Given the description of an element on the screen output the (x, y) to click on. 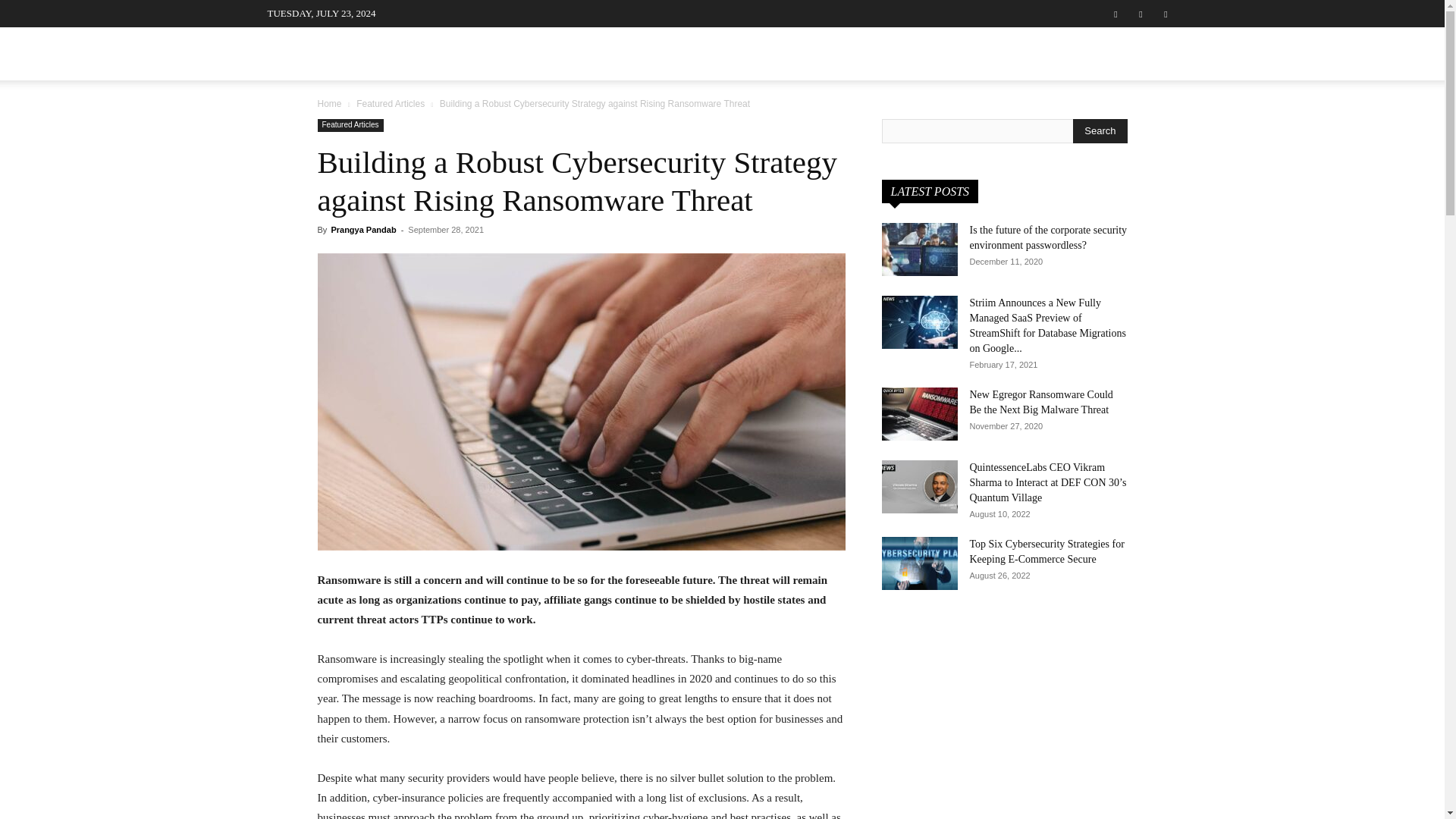
Twitter (1165, 13)
Featured Articles (349, 124)
View all posts in Featured Articles (390, 103)
ITSECURITYWIRE FAVCON (381, 57)
ITSecurityWire (381, 57)
Facebook (1114, 13)
INSIGHTS (778, 53)
QUICK BYTES (883, 53)
ARTICLES (610, 53)
Linkedin (1140, 13)
Search (1134, 129)
INTERVIEWS (519, 53)
